Given the description of an element on the screen output the (x, y) to click on. 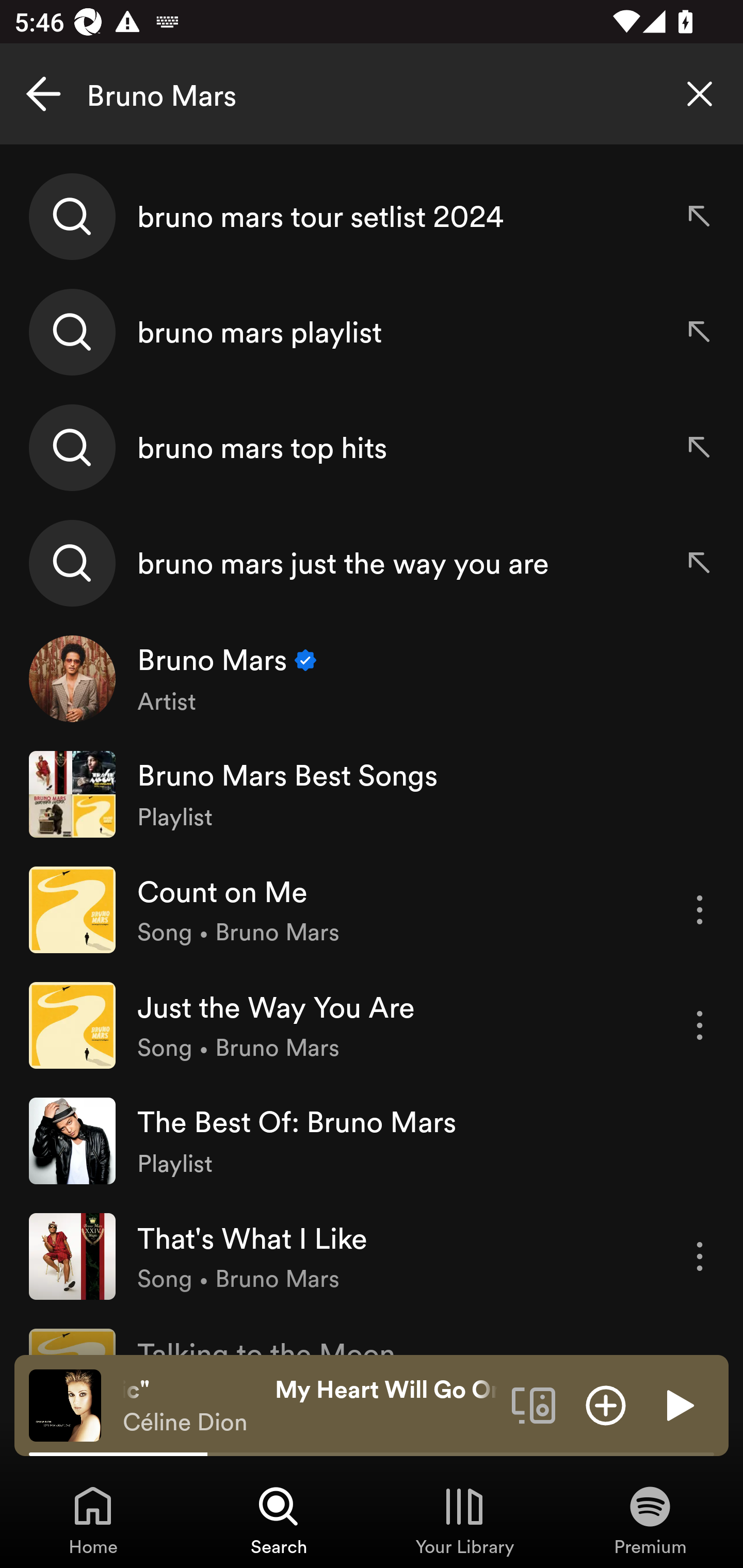
Bruno Mars (371, 93)
Cancel (43, 93)
Clear search query (699, 93)
bruno mars tour setlist 2024 (371, 216)
bruno mars playlist (371, 332)
bruno mars top hits (371, 447)
bruno mars just the way you are (371, 562)
Bruno Mars Verified Artist (371, 678)
Bruno Mars Best Songs Playlist (371, 793)
More options for song Count on Me (699, 910)
More options for song Just the Way You Are (699, 1025)
The Best Of: Bruno Mars Playlist (371, 1140)
More options for song That's What I Like (699, 1256)
The cover art of the currently playing track (64, 1404)
Connect to a device. Opens the devices menu (533, 1404)
Add item (605, 1404)
Play (677, 1404)
Home, Tab 1 of 4 Home Home (92, 1519)
Search, Tab 2 of 4 Search Search (278, 1519)
Your Library, Tab 3 of 4 Your Library Your Library (464, 1519)
Premium, Tab 4 of 4 Premium Premium (650, 1519)
